Given the description of an element on the screen output the (x, y) to click on. 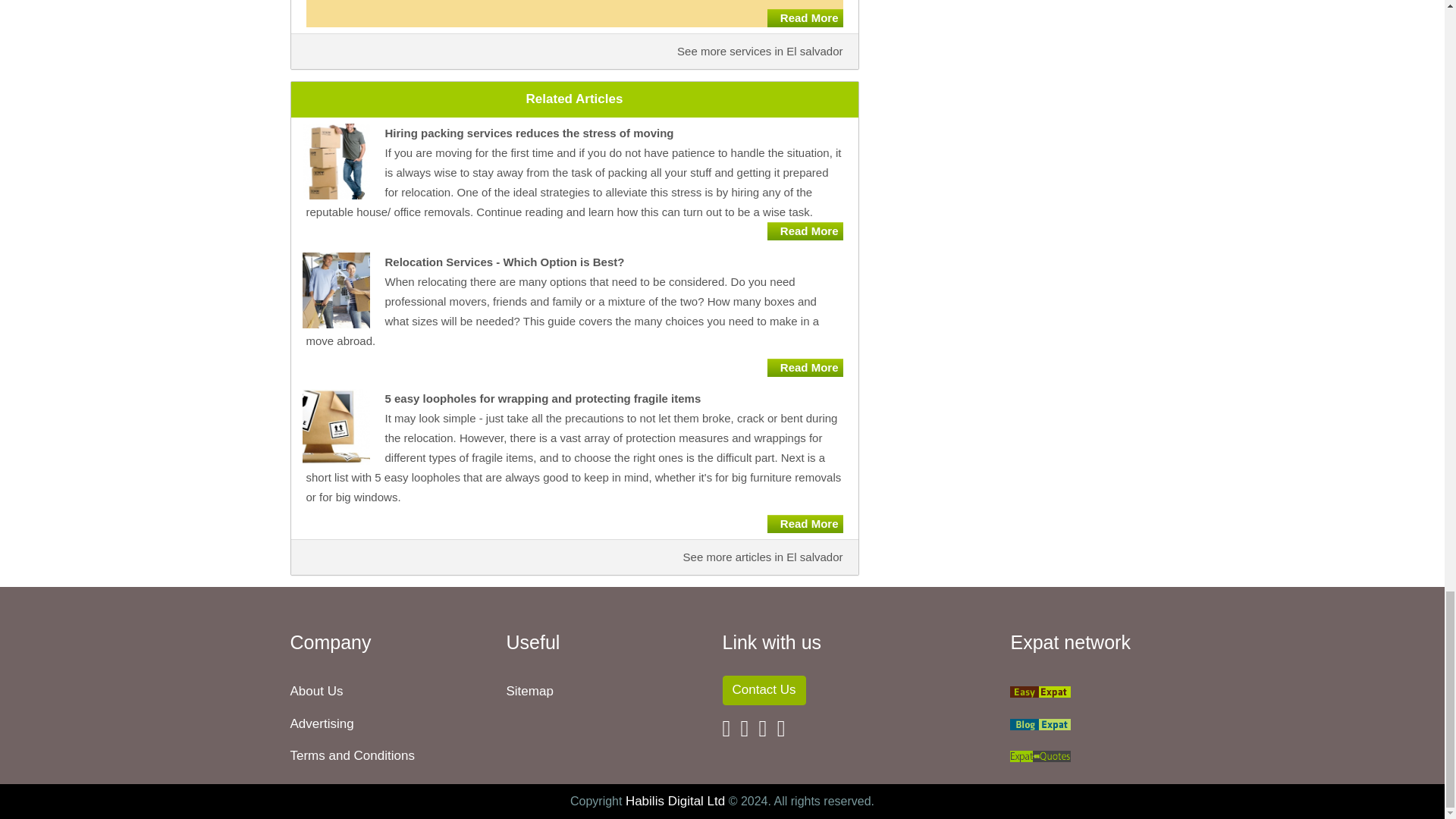
Expat-Quotes (1040, 755)
See more services in El salvador (760, 51)
See more articles in El salvador (762, 556)
